Given the description of an element on the screen output the (x, y) to click on. 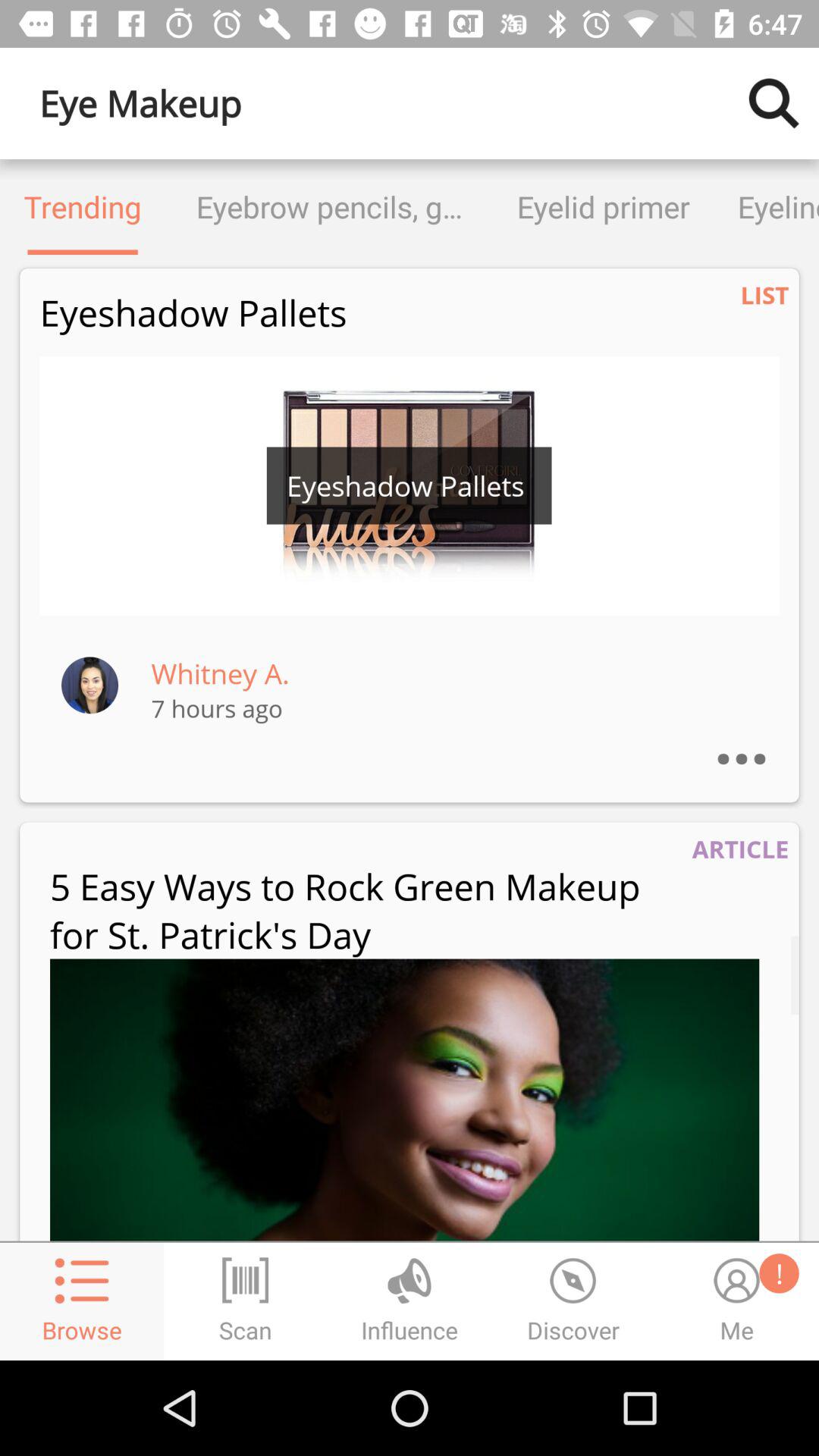
choose the icon below eyeliner icon (764, 294)
